Given the description of an element on the screen output the (x, y) to click on. 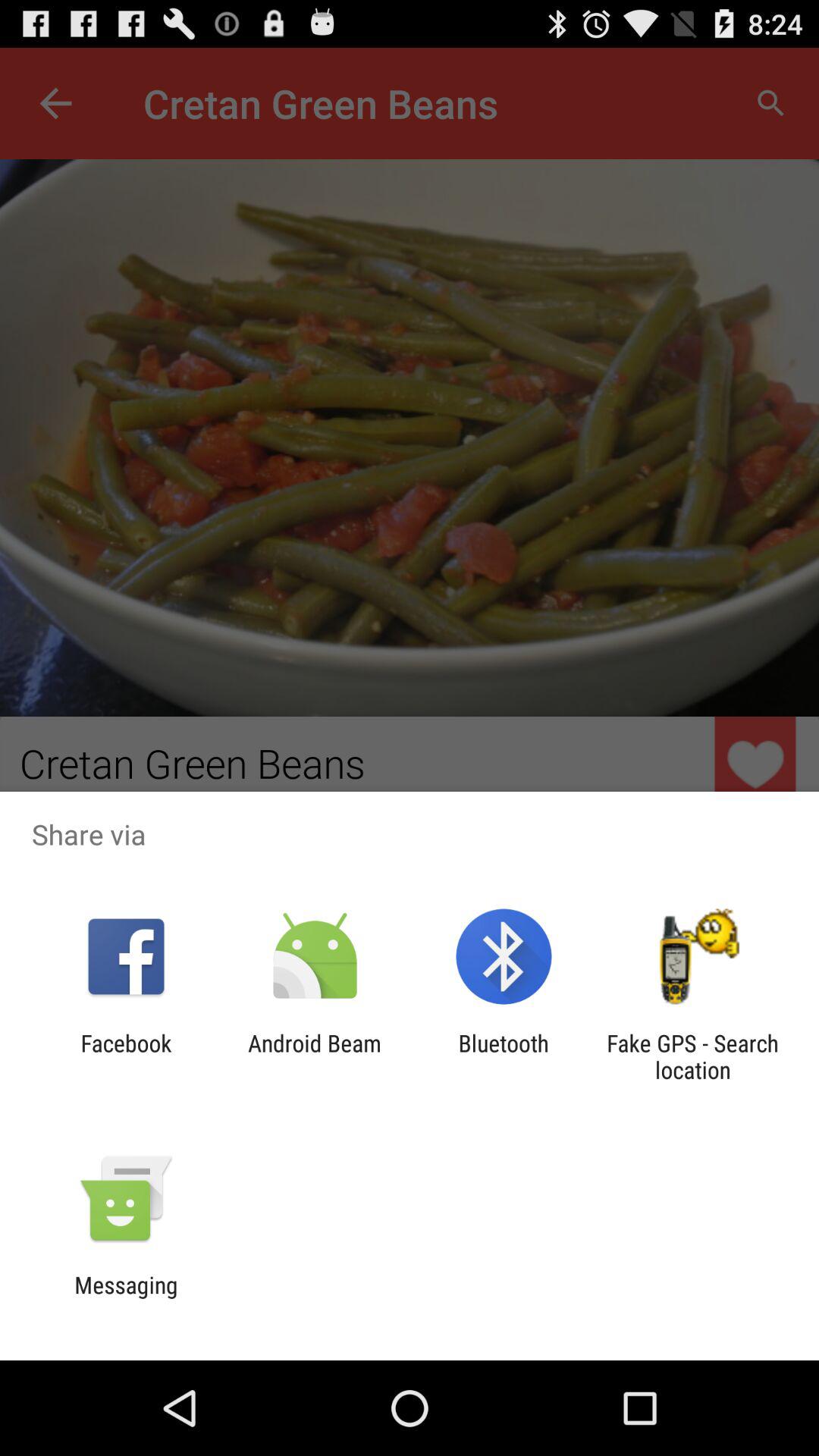
open fake gps search icon (692, 1056)
